Given the description of an element on the screen output the (x, y) to click on. 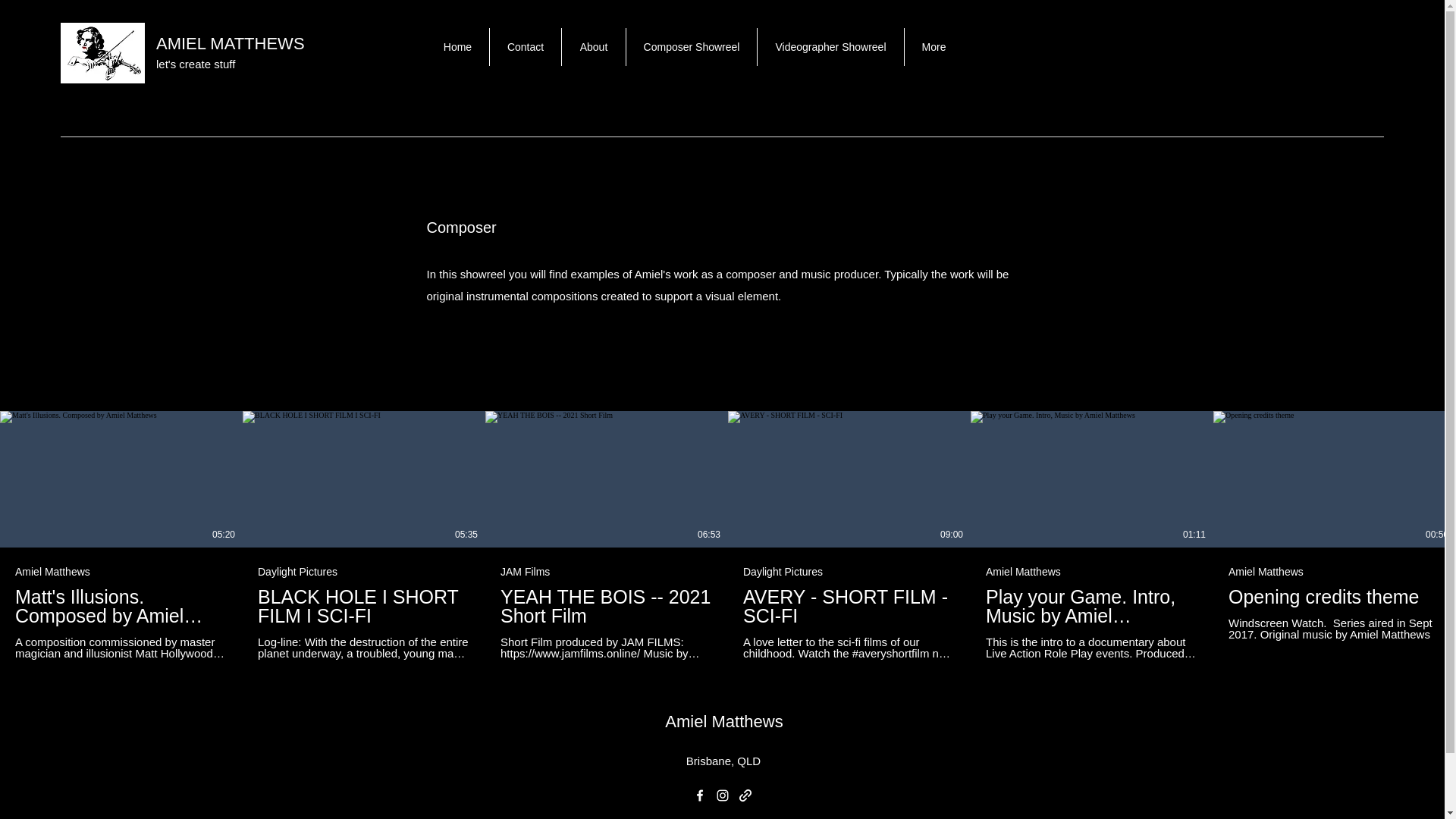
YEAH THE BOIS -- 2021 Short Film (606, 606)
Home (375, 45)
Home (457, 46)
Contact (524, 46)
Music Producer Showreel (1048, 45)
Song Writer Showreel (891, 45)
Contact (437, 45)
About (593, 46)
Composer Showreel (596, 45)
AVERY - SHORT FILM - SCI-FI (848, 606)
Videographer Showreel (830, 46)
Videographer Showreel (742, 45)
BLACK HOLE I SHORT FILM I SCI-FI (363, 606)
About (499, 45)
